Given the description of an element on the screen output the (x, y) to click on. 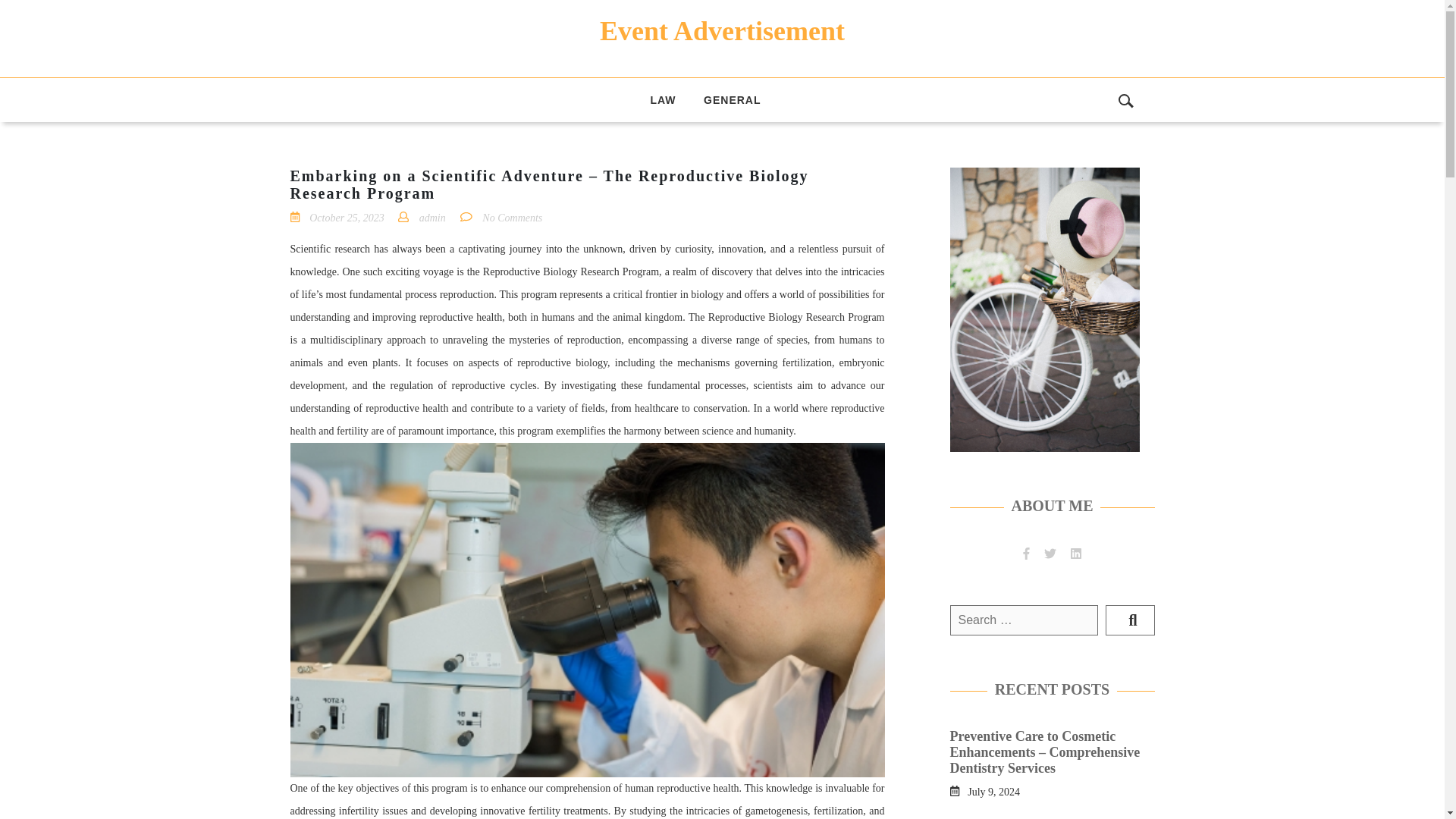
admin (432, 217)
July 9, 2024 (994, 790)
Law (662, 99)
Event Advertisement (721, 30)
General (732, 99)
Search (1129, 620)
Search (1129, 620)
LAW (662, 99)
GENERAL (732, 99)
Search (1129, 620)
No Comments (511, 217)
October 25, 2023 (346, 217)
